Given the description of an element on the screen output the (x, y) to click on. 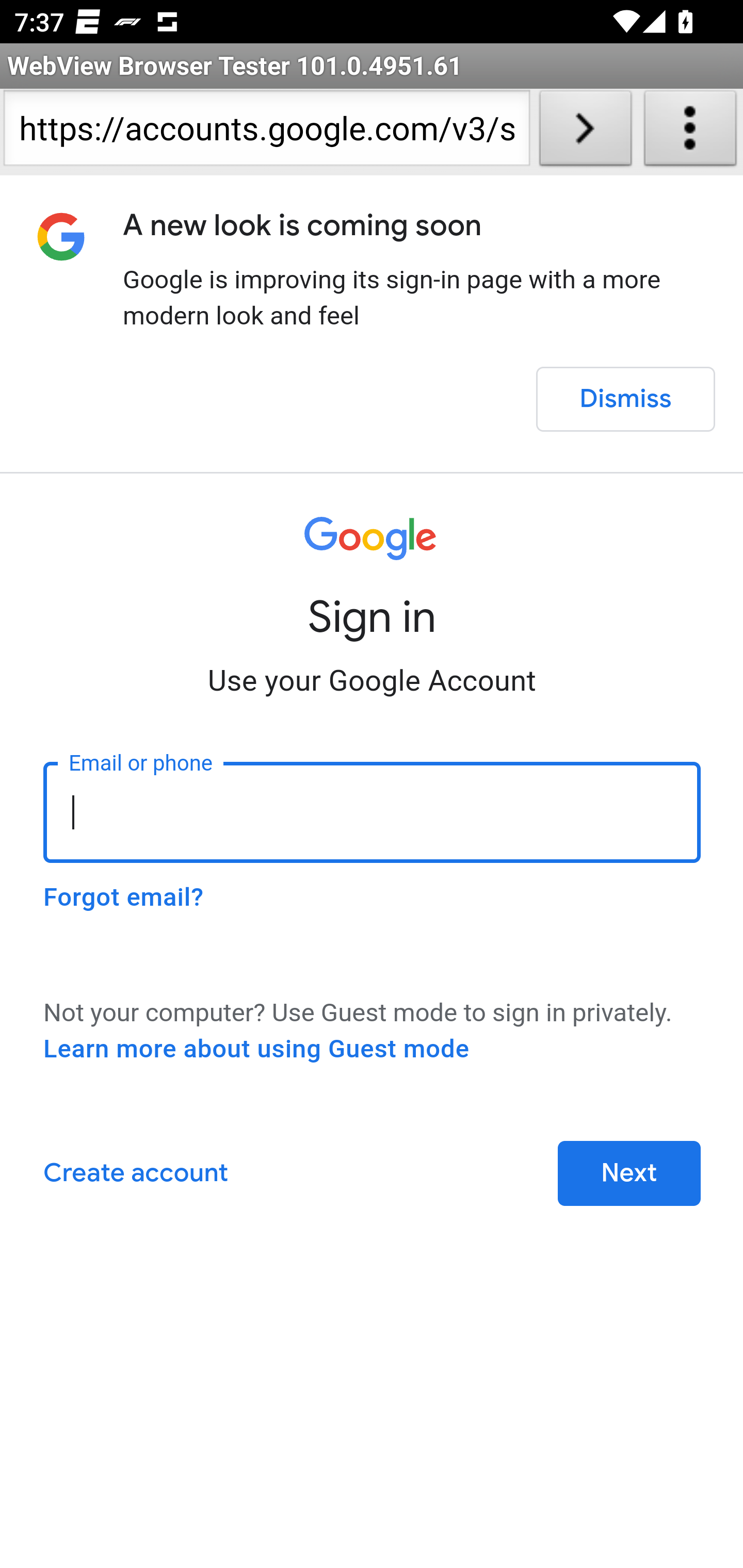
Load URL (585, 132)
About WebView (690, 132)
Dismiss (625, 398)
Forgot email? (123, 897)
Learn more about using Guest mode (256, 1048)
Create account (134, 1173)
Next (629, 1173)
